Given the description of an element on the screen output the (x, y) to click on. 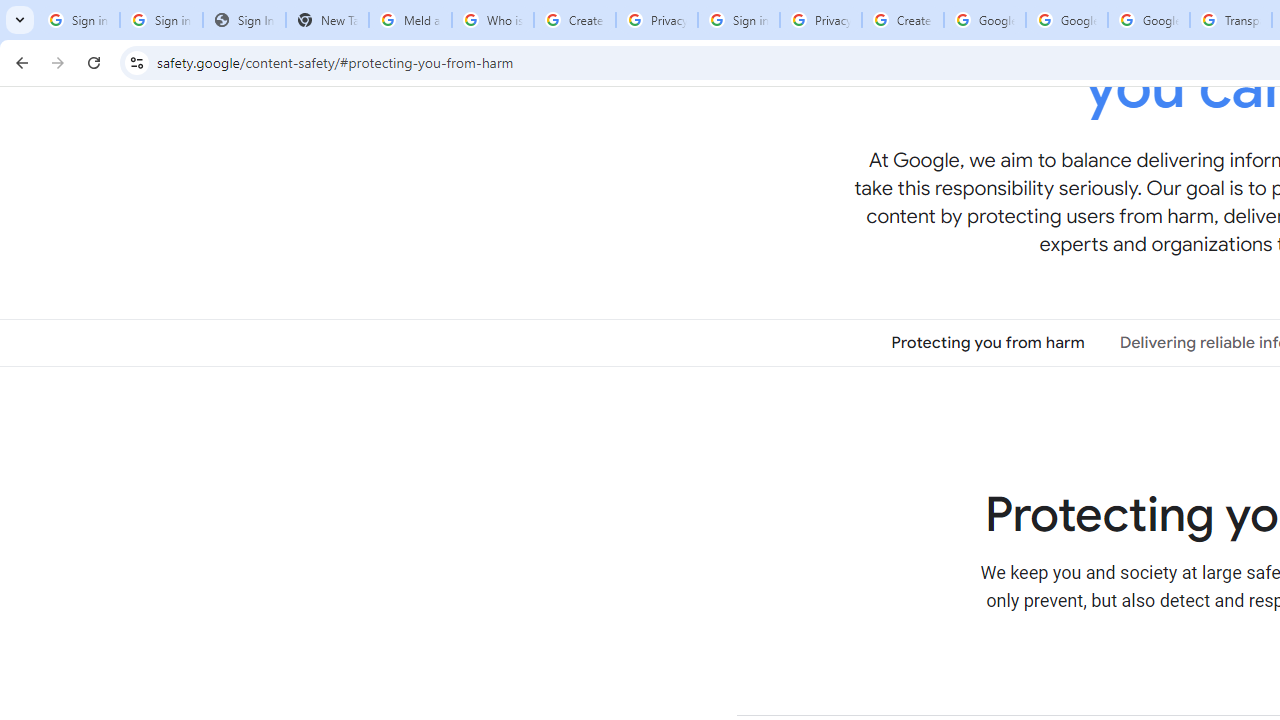
New Tab (326, 20)
Protecting you from harm (987, 343)
Create your Google Account (902, 20)
Sign in - Google Accounts (78, 20)
Who is my administrator? - Google Account Help (492, 20)
Google Account (1149, 20)
